Given the description of an element on the screen output the (x, y) to click on. 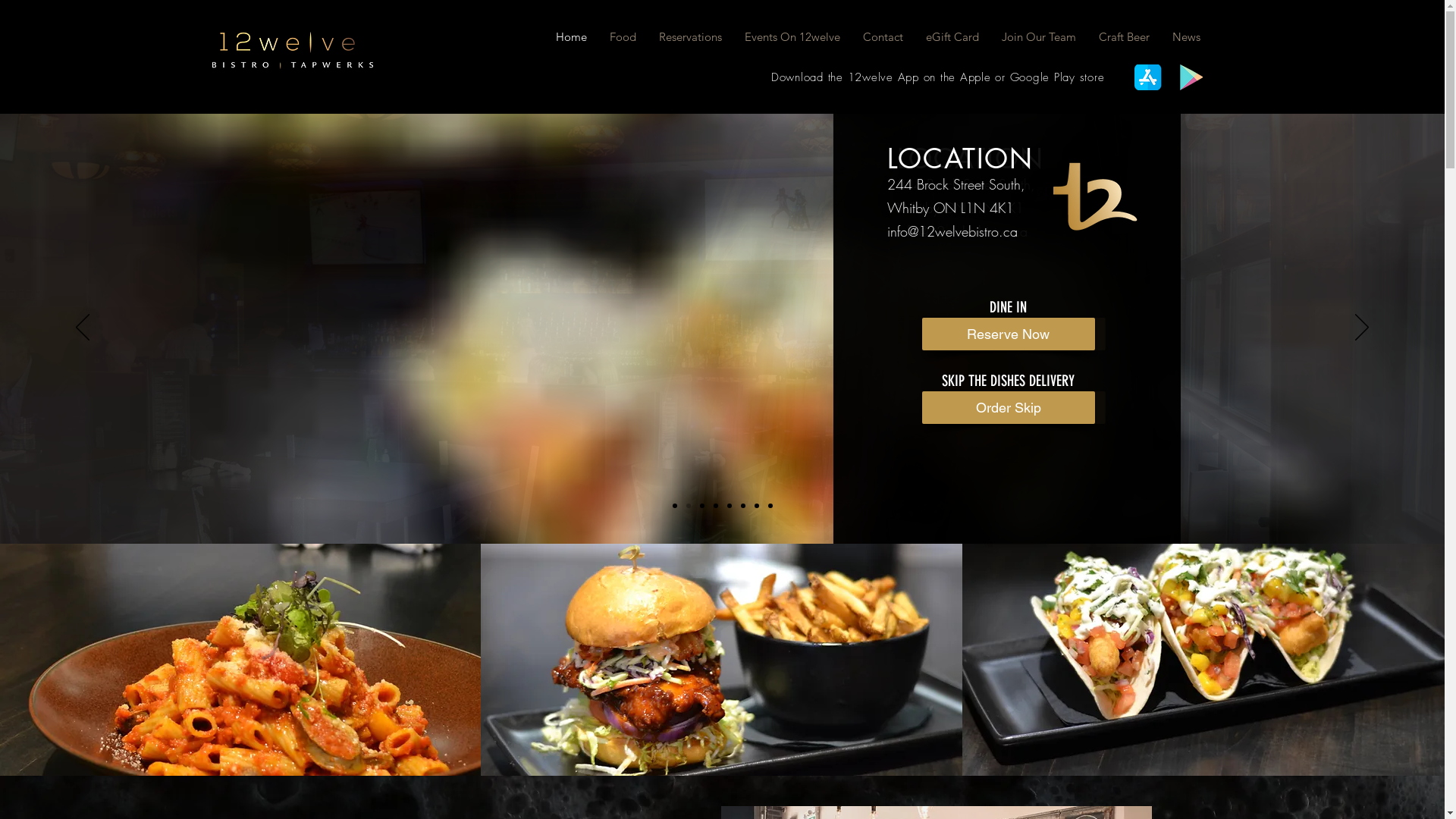
Craft Beer Element type: text (1124, 37)
Reservations Element type: text (690, 37)
info@12welvebistro.ca Element type: text (950, 231)
Join Our Team Element type: text (1038, 37)
Order Skip Element type: text (1006, 407)
Home Element type: text (571, 37)
Contact Element type: text (881, 37)
eGift Card Element type: text (952, 37)
Order Skip Element type: text (1008, 407)
Reserve Now Element type: text (1006, 333)
info@12welvebistro.ca Element type: text (952, 231)
Food Element type: text (621, 37)
News Element type: text (1185, 37)
Reserve Now Element type: text (1008, 333)
Events On 12welve Element type: text (791, 37)
